Given the description of an element on the screen output the (x, y) to click on. 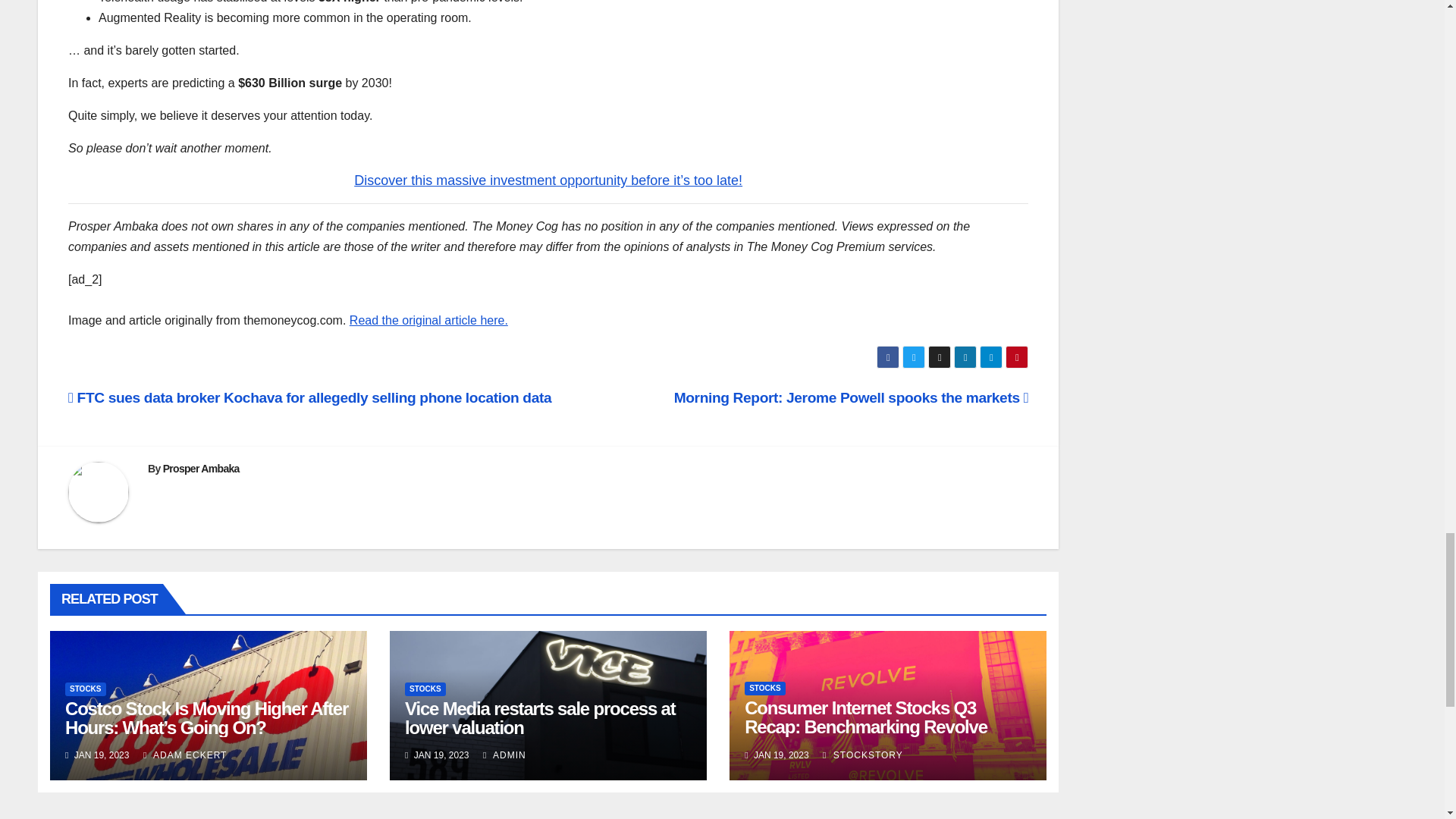
ADAM ECKERT (184, 755)
Morning Report: Jerome Powell spooks the markets (851, 397)
STOCKS (85, 689)
Prosper Ambaka (201, 468)
Read the original article here. (428, 319)
